Given the description of an element on the screen output the (x, y) to click on. 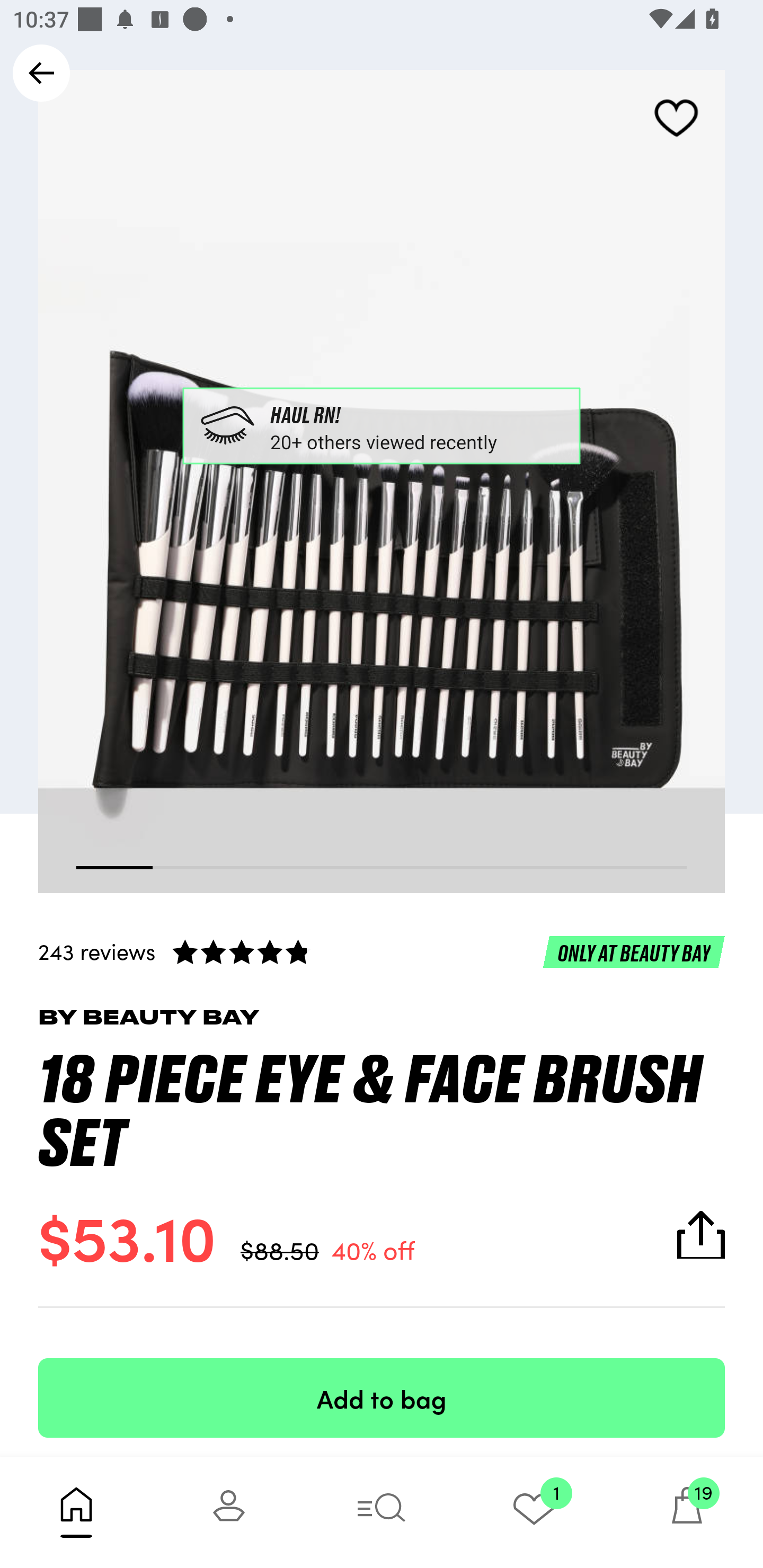
243 reviews (381, 950)
Add to bag (381, 1397)
1 (533, 1512)
19 (686, 1512)
